Given the description of an element on the screen output the (x, y) to click on. 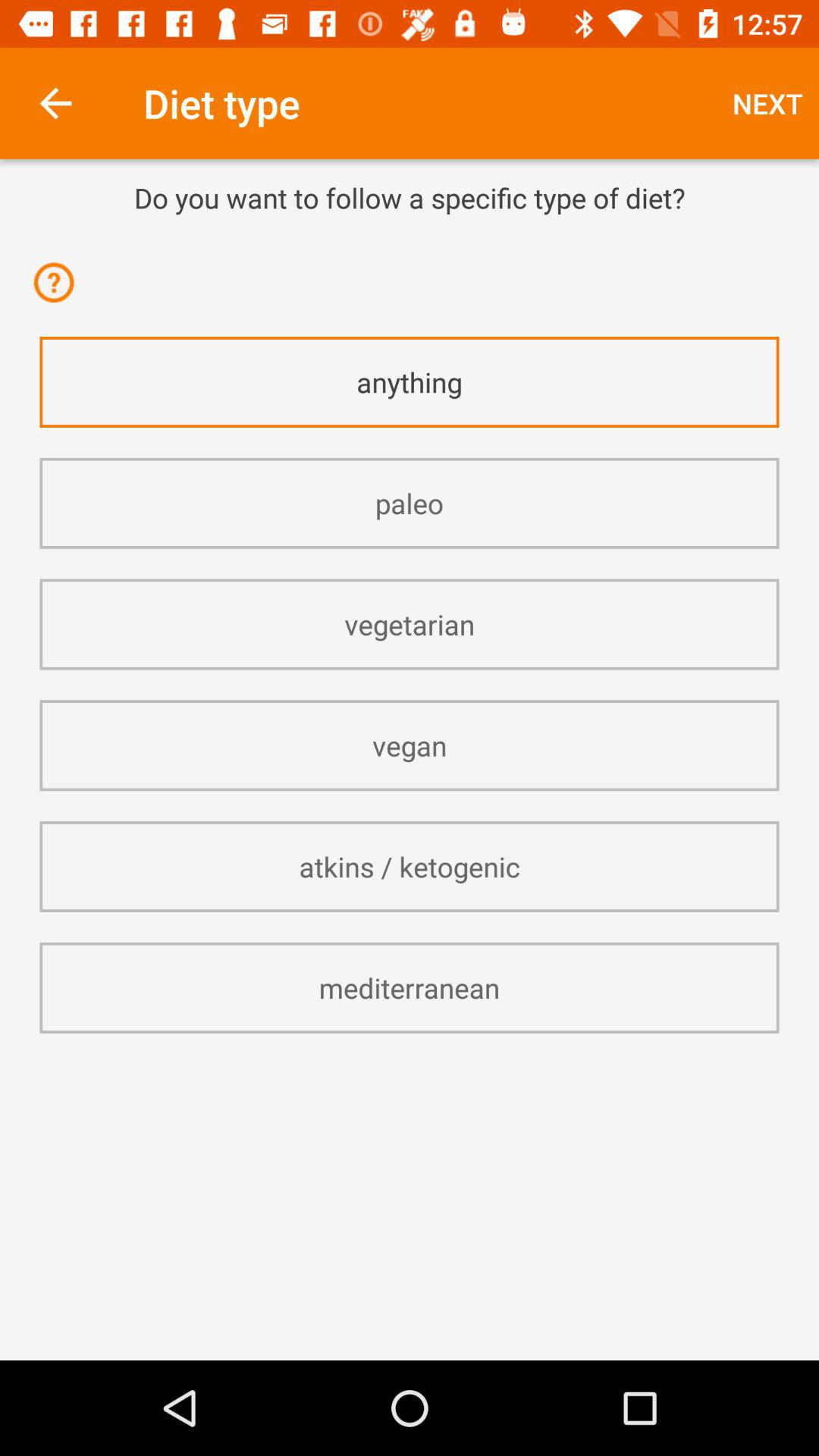
select the icon above vegetarian app (409, 503)
